Given the description of an element on the screen output the (x, y) to click on. 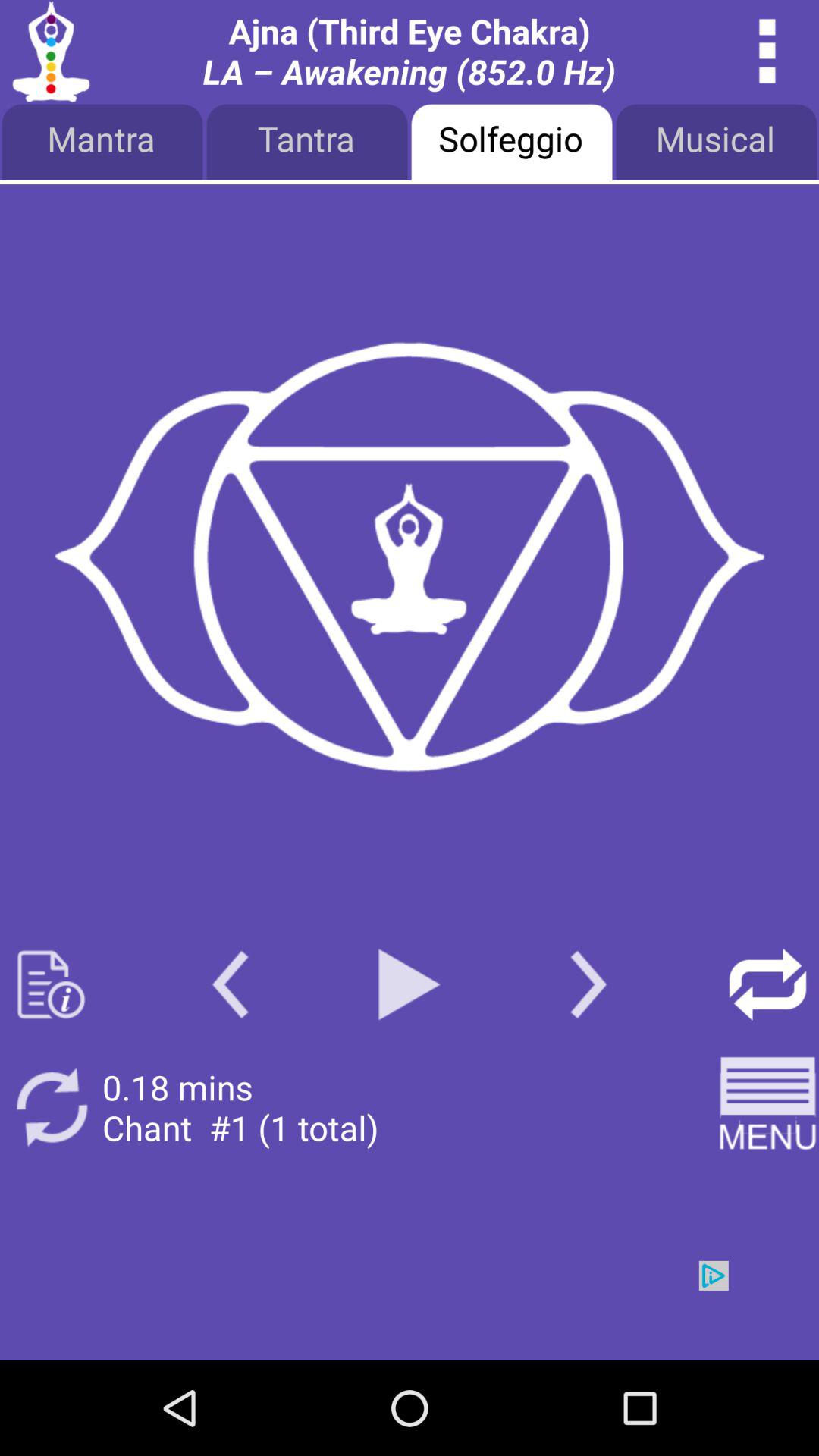
advertisement page (409, 1310)
